Given the description of an element on the screen output the (x, y) to click on. 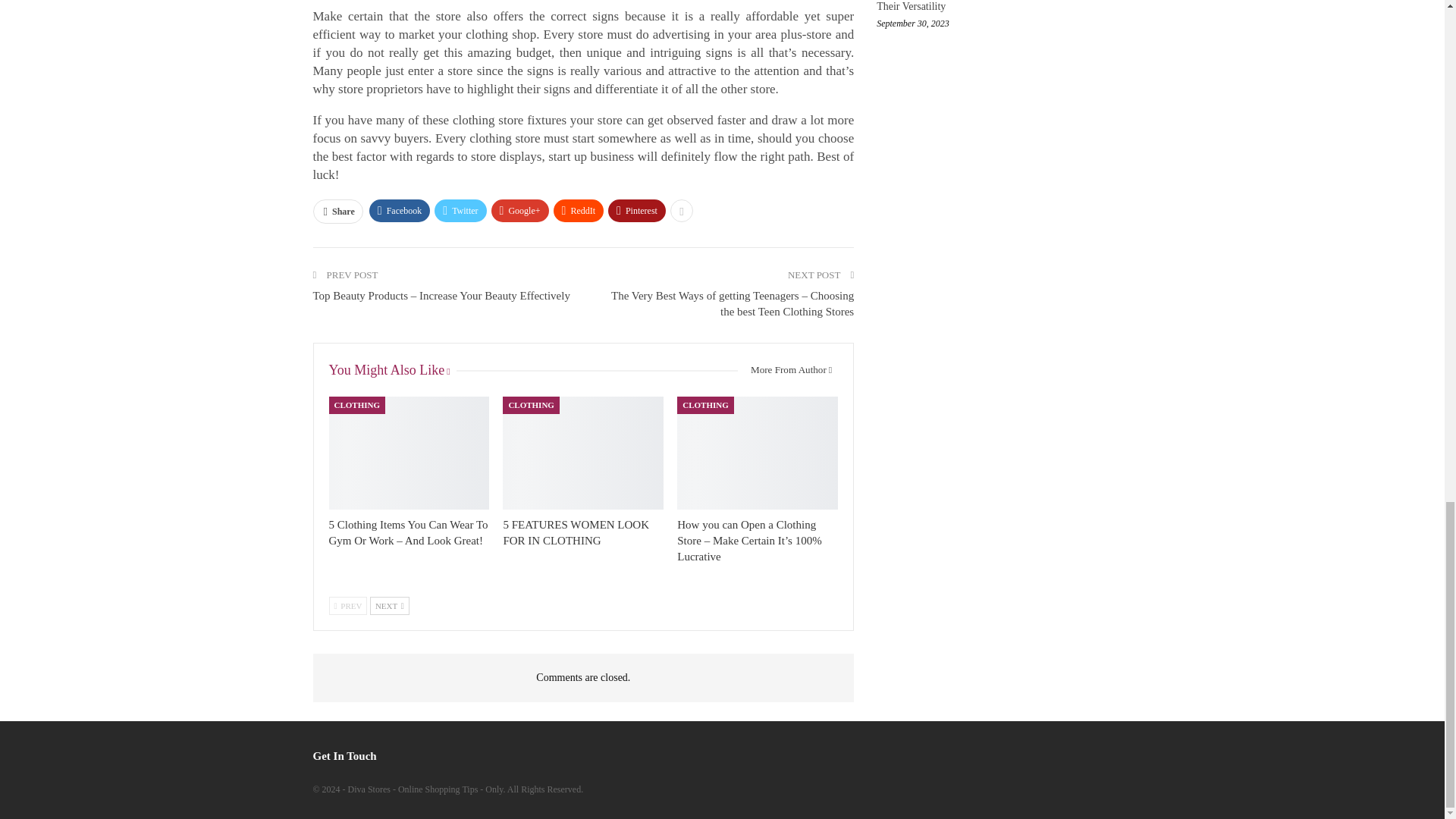
Next (389, 606)
5 FEATURES WOMEN LOOK FOR IN CLOTHING (582, 452)
You Might Also Like (393, 369)
5 FEATURES WOMEN LOOK FOR IN CLOTHING (575, 532)
Facebook (399, 210)
Pinterest (636, 210)
Twitter (459, 210)
Previous (348, 606)
ReddIt (578, 210)
